Given the description of an element on the screen output the (x, y) to click on. 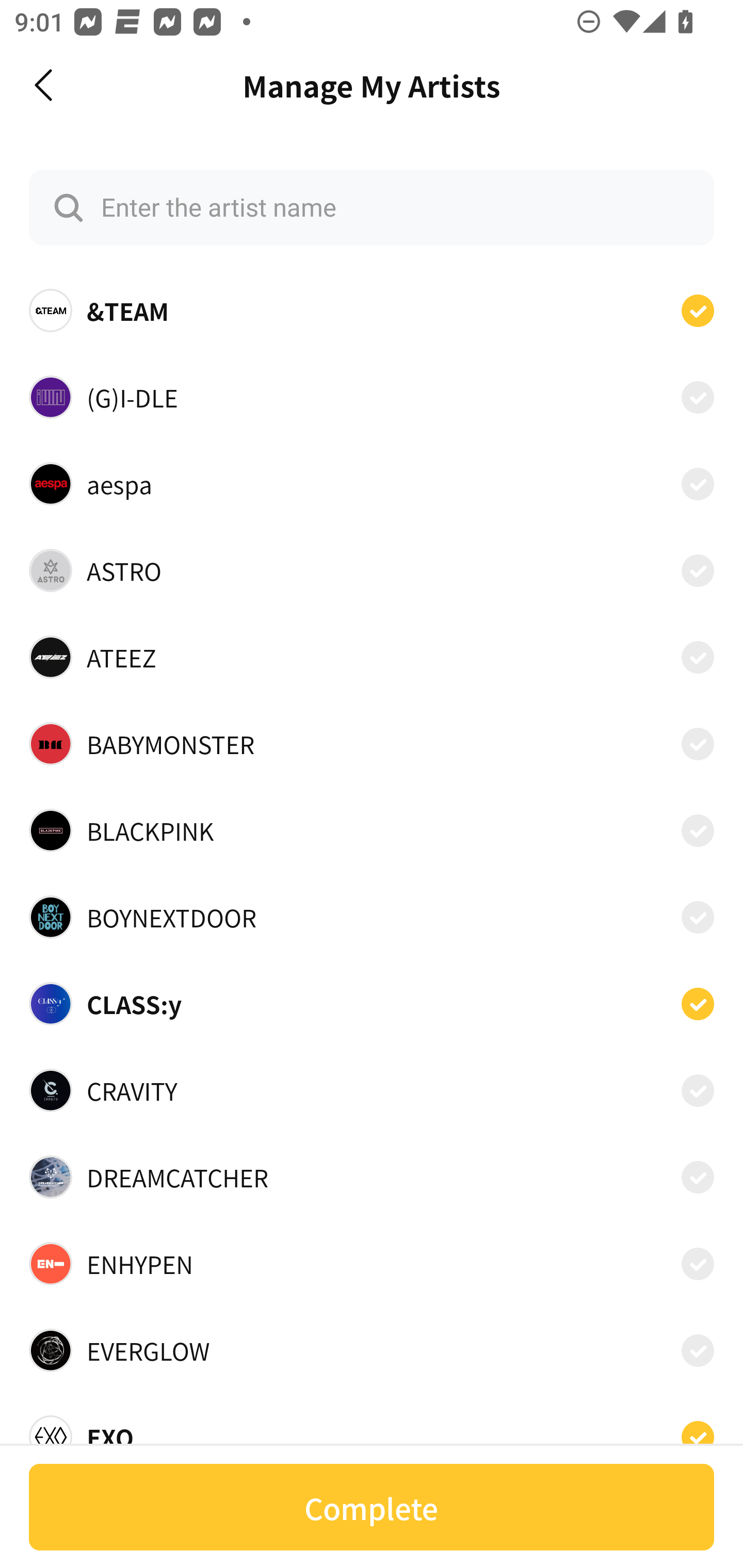
Enter the artist name (371, 207)
&TEAM (371, 310)
(G)I-DLE (371, 396)
aespa (371, 483)
ASTRO (371, 570)
ATEEZ (371, 656)
BABYMONSTER (371, 743)
BLACKPINK (371, 830)
BOYNEXTDOOR (371, 917)
CLASS:y (371, 1003)
CRAVITY (371, 1090)
DREAMCATCHER (371, 1176)
ENHYPEN (371, 1263)
EVERGLOW (371, 1350)
EXO (371, 1430)
Complete (371, 1507)
